Given the description of an element on the screen output the (x, y) to click on. 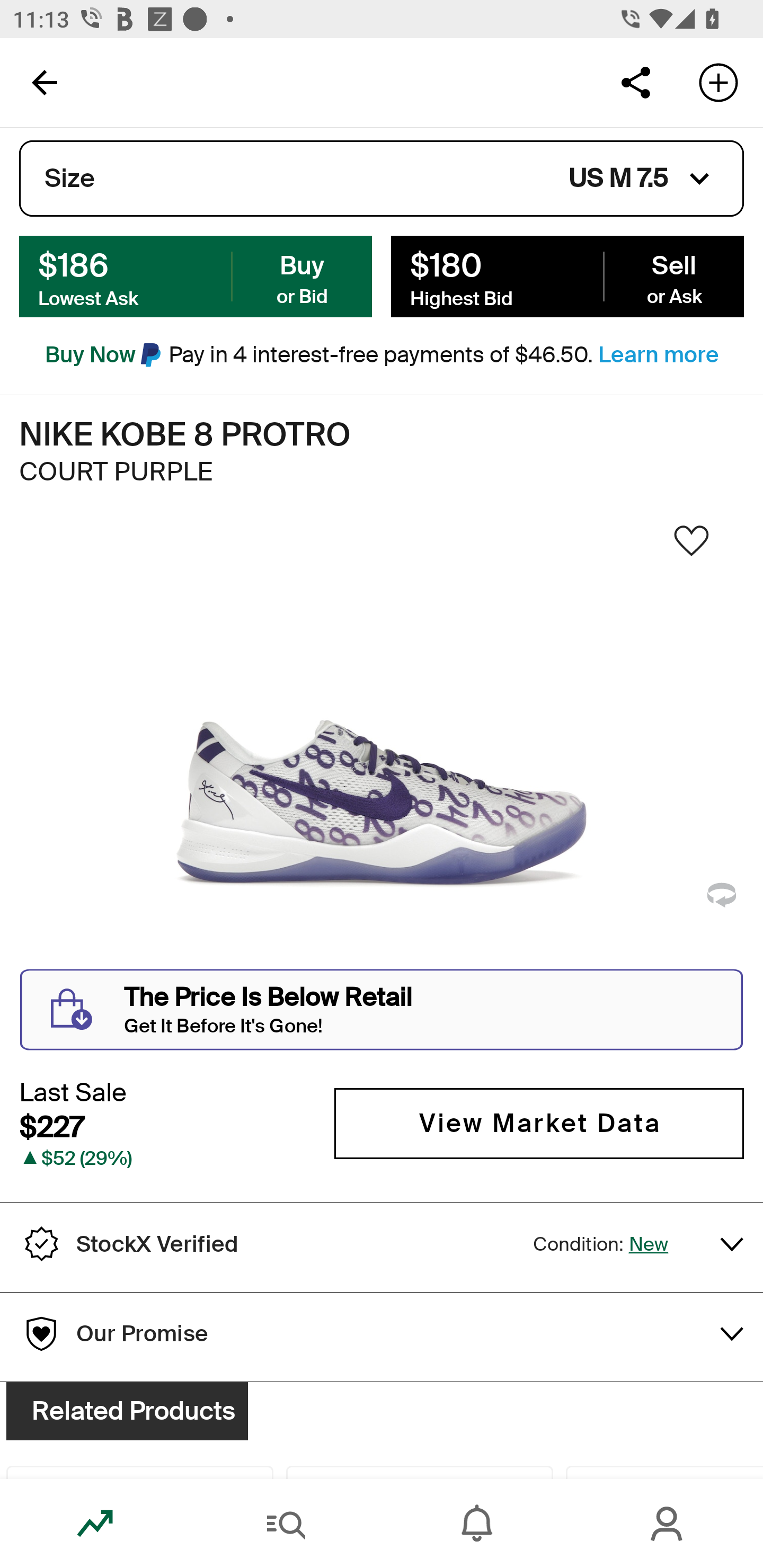
Share (635, 81)
Add (718, 81)
Size US M 7.5 (381, 178)
$186 Buy Lowest Ask or Bid (195, 275)
$180 Sell Highest Bid or Ask (566, 275)
Sneaker Image (381, 745)
View Market Data (538, 1123)
Search (285, 1523)
Inbox (476, 1523)
Account (667, 1523)
